Given the description of an element on the screen output the (x, y) to click on. 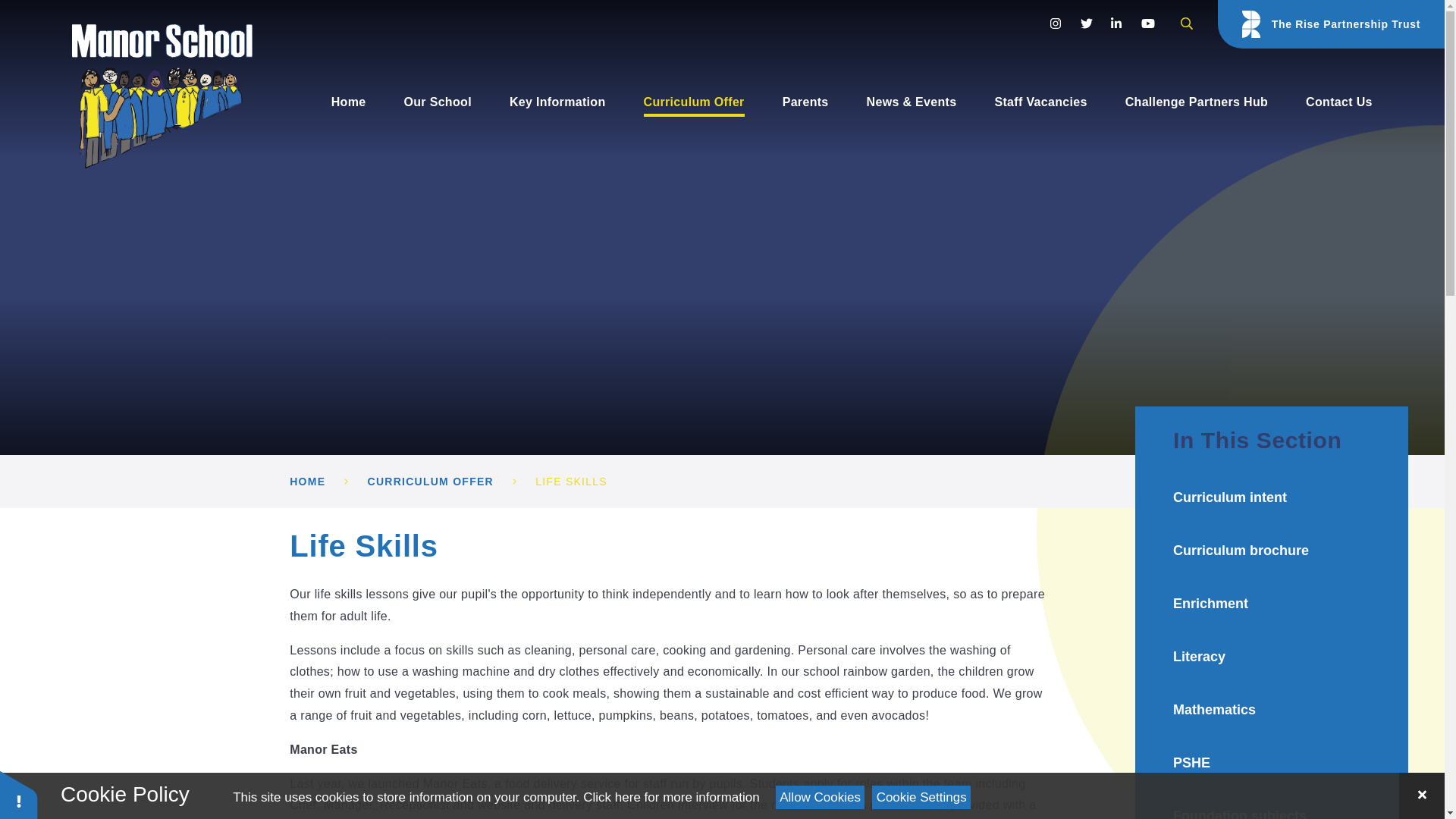
Curriculum Offer (693, 102)
Allow Cookies (820, 797)
Our School (436, 102)
See cookie policy (670, 797)
Home (348, 102)
Key Information (557, 102)
